Given the description of an element on the screen output the (x, y) to click on. 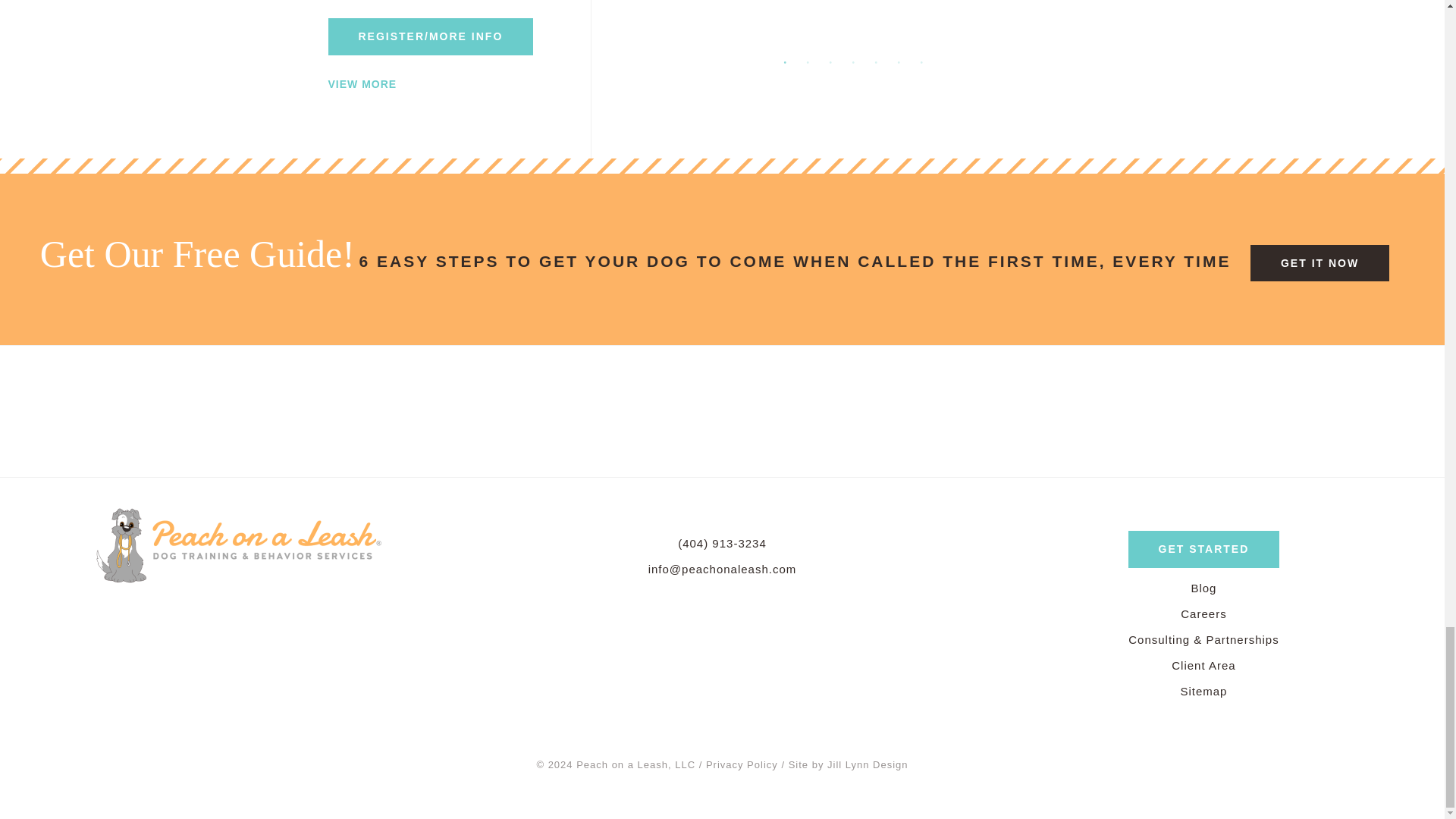
Client Area (1203, 665)
VIEW MORE (361, 83)
Atlanta WordPress Web Designer and Developer (848, 765)
Peach on a Leash (239, 543)
GET STARTED (1203, 549)
Sitemap (1203, 691)
6 (899, 62)
7 (922, 62)
2 (807, 62)
GET IT NOW (1319, 262)
